Given the description of an element on the screen output the (x, y) to click on. 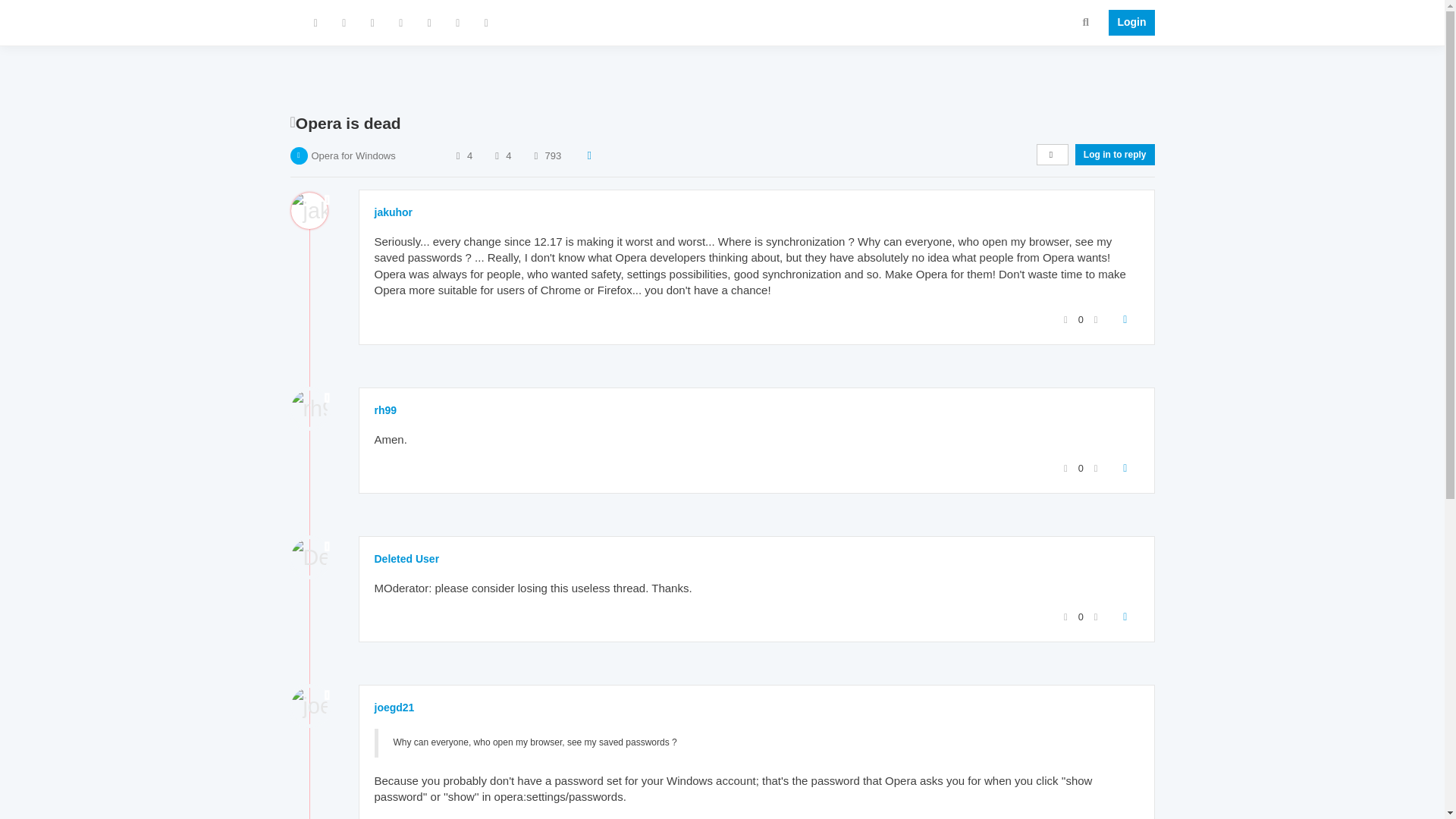
Views (535, 155)
Search (1085, 21)
Login (1127, 22)
Posts (496, 155)
Posters (457, 155)
jakuhor (393, 212)
Opera for Windows (352, 155)
Log in to reply (1114, 154)
